Given the description of an element on the screen output the (x, y) to click on. 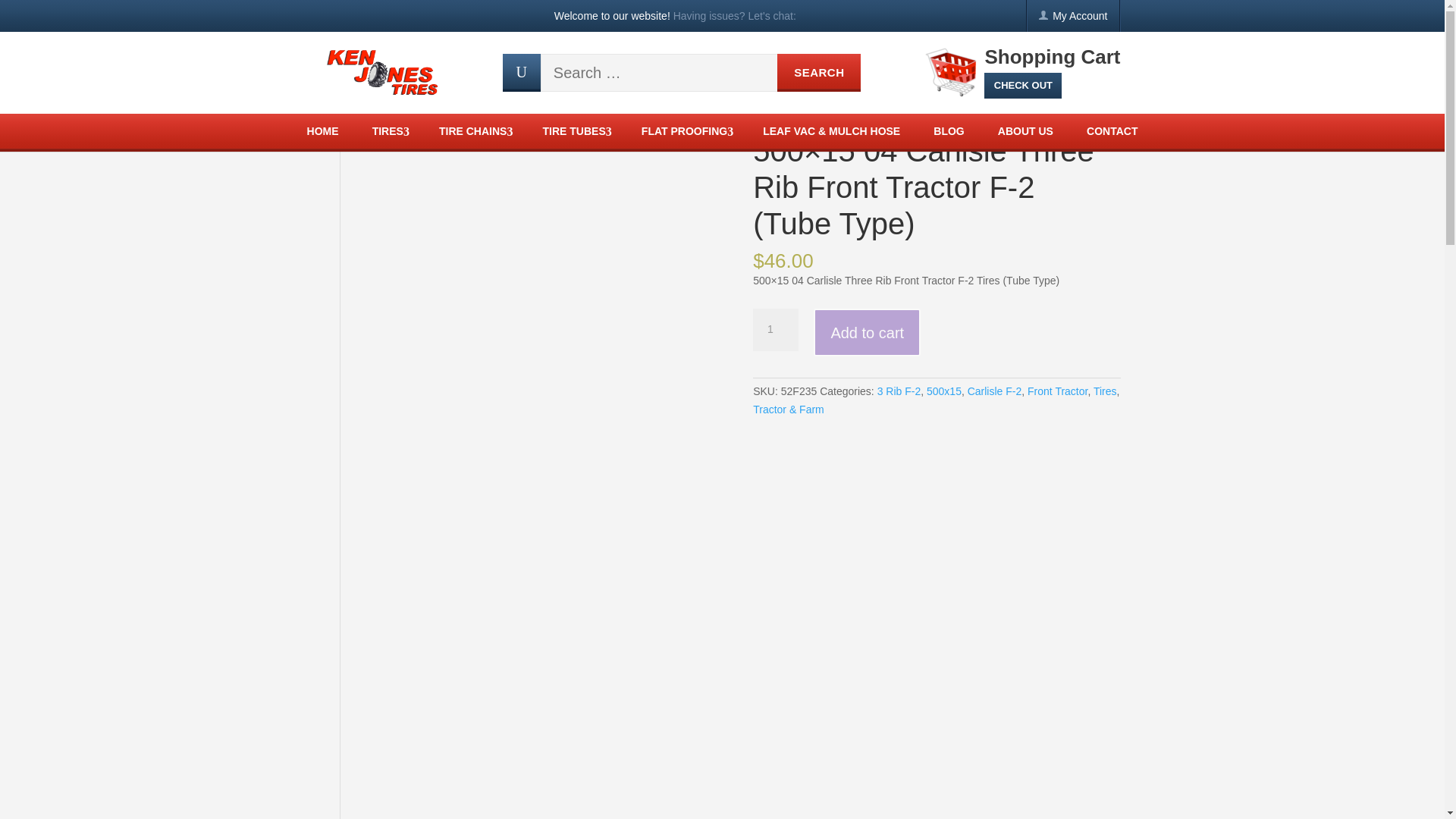
Search (818, 72)
Search (818, 72)
Search (818, 72)
1 (774, 329)
My Account (1079, 15)
TIRES (389, 130)
CHECK OUT (1022, 85)
TIRE CHAINS (474, 130)
TIRE TUBES (574, 130)
HOME (323, 130)
My Account (1079, 15)
